Given the description of an element on the screen output the (x, y) to click on. 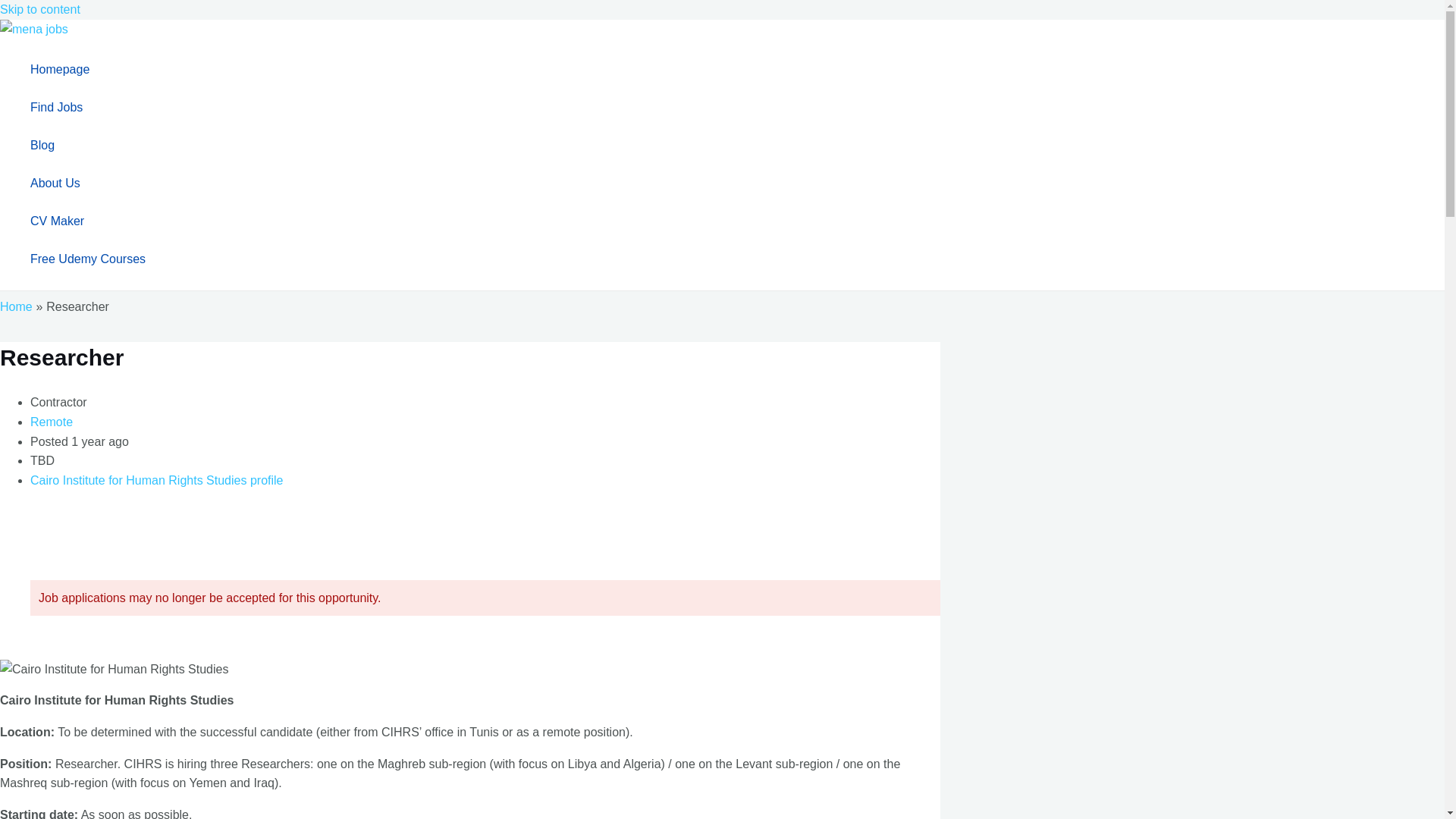
Find Jobs (87, 107)
CV Maker (87, 221)
Free Udemy Courses (87, 259)
Homepage (87, 69)
Remote (51, 421)
Researcher 1 (114, 669)
About Us (87, 183)
Skip to content (40, 9)
Skip to content (40, 9)
Cairo Institute for Human Rights Studies profile (156, 480)
